Given the description of an element on the screen output the (x, y) to click on. 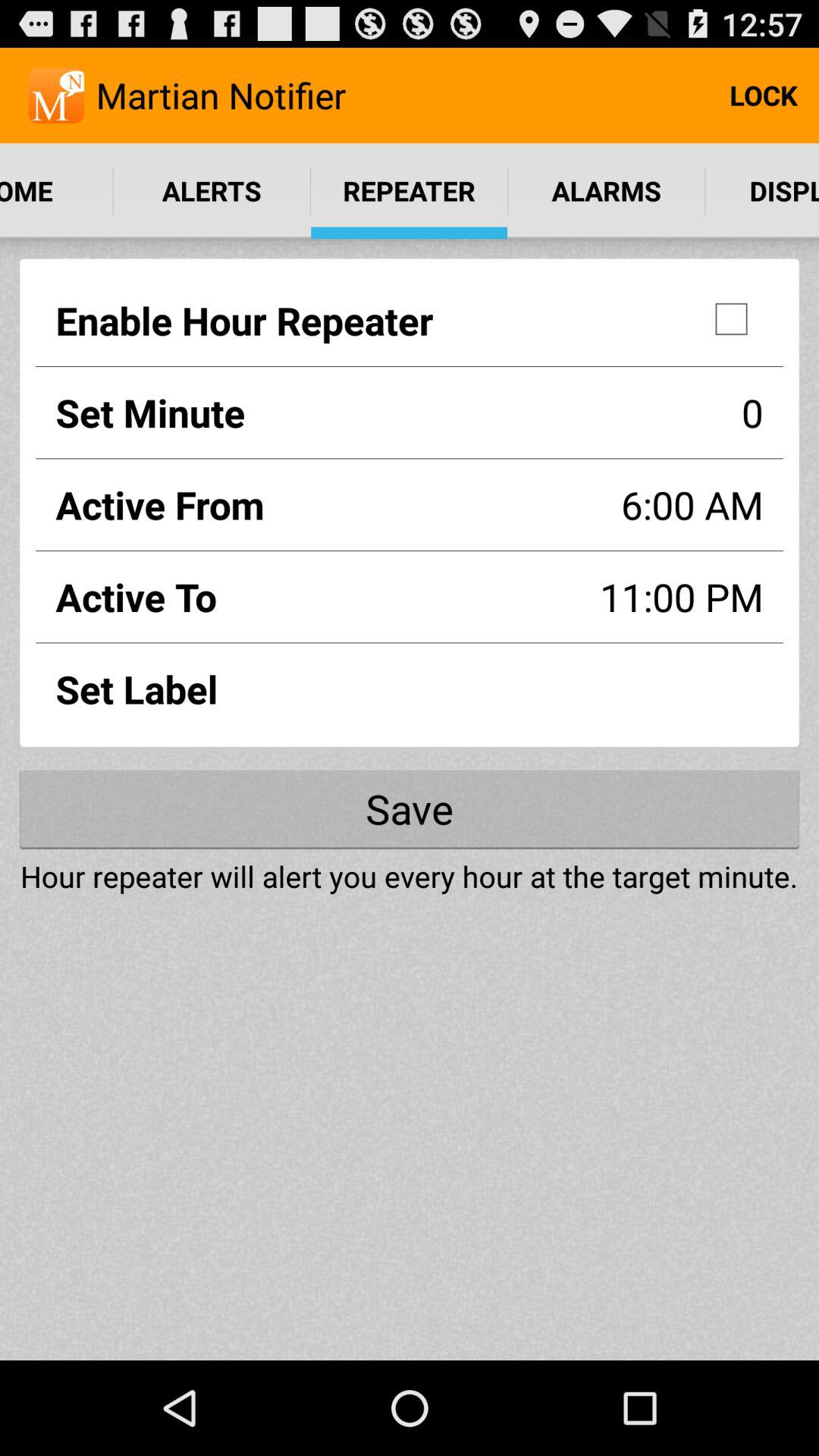
tap icon next to the martian notifier item (763, 95)
